Given the description of an element on the screen output the (x, y) to click on. 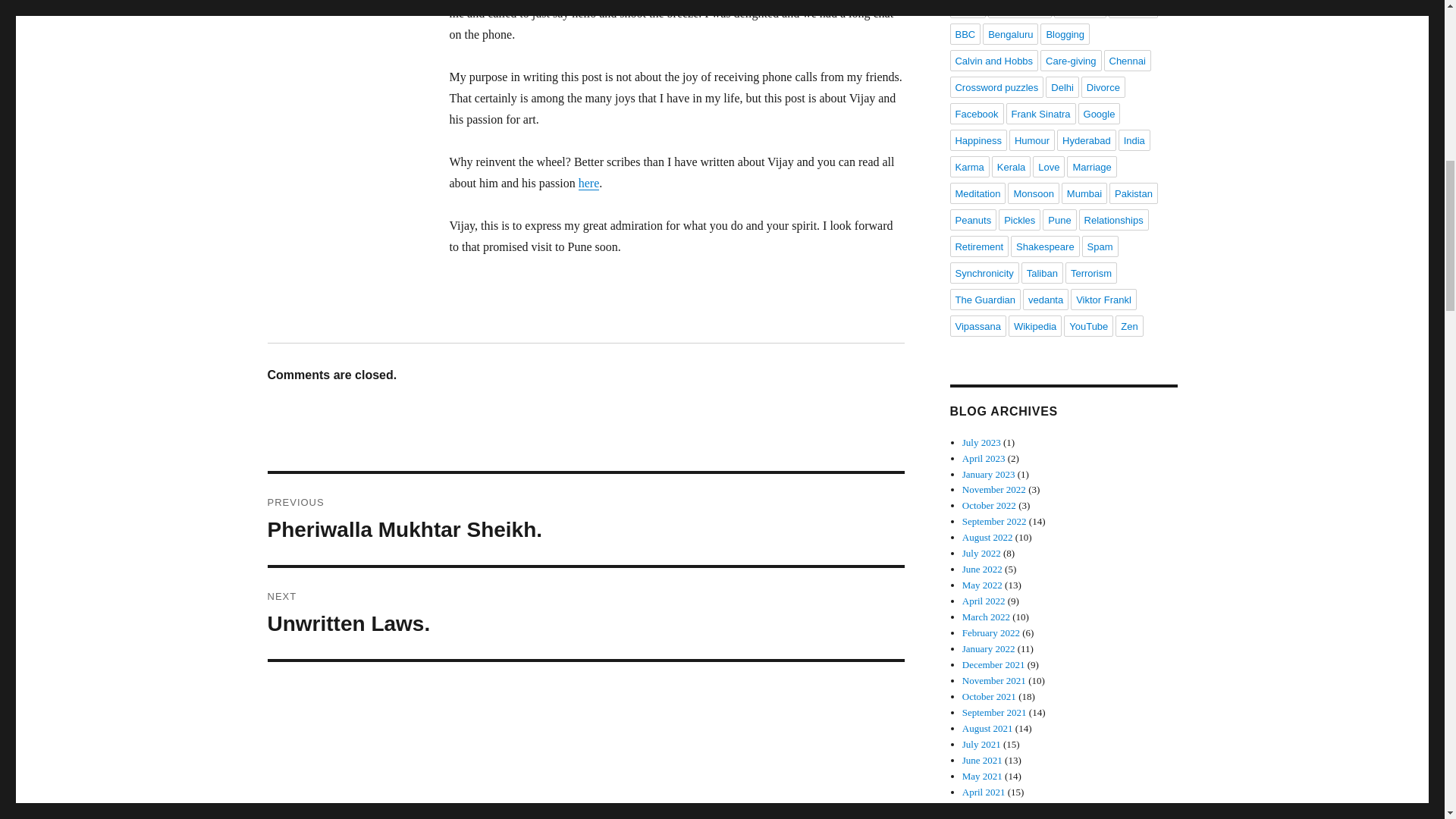
BBC (964, 34)
Hyderabad (1086, 139)
Facebook (976, 113)
Bengaluru (1010, 34)
Happiness (977, 139)
Chennai (1127, 60)
here (588, 182)
Frank Sinatra (1040, 113)
Humour (1031, 139)
Google (1099, 113)
Crossword puzzles (585, 519)
Ahmedabad (996, 86)
Aging (1019, 9)
Ajit Ninan (967, 9)
